Given the description of an element on the screen output the (x, y) to click on. 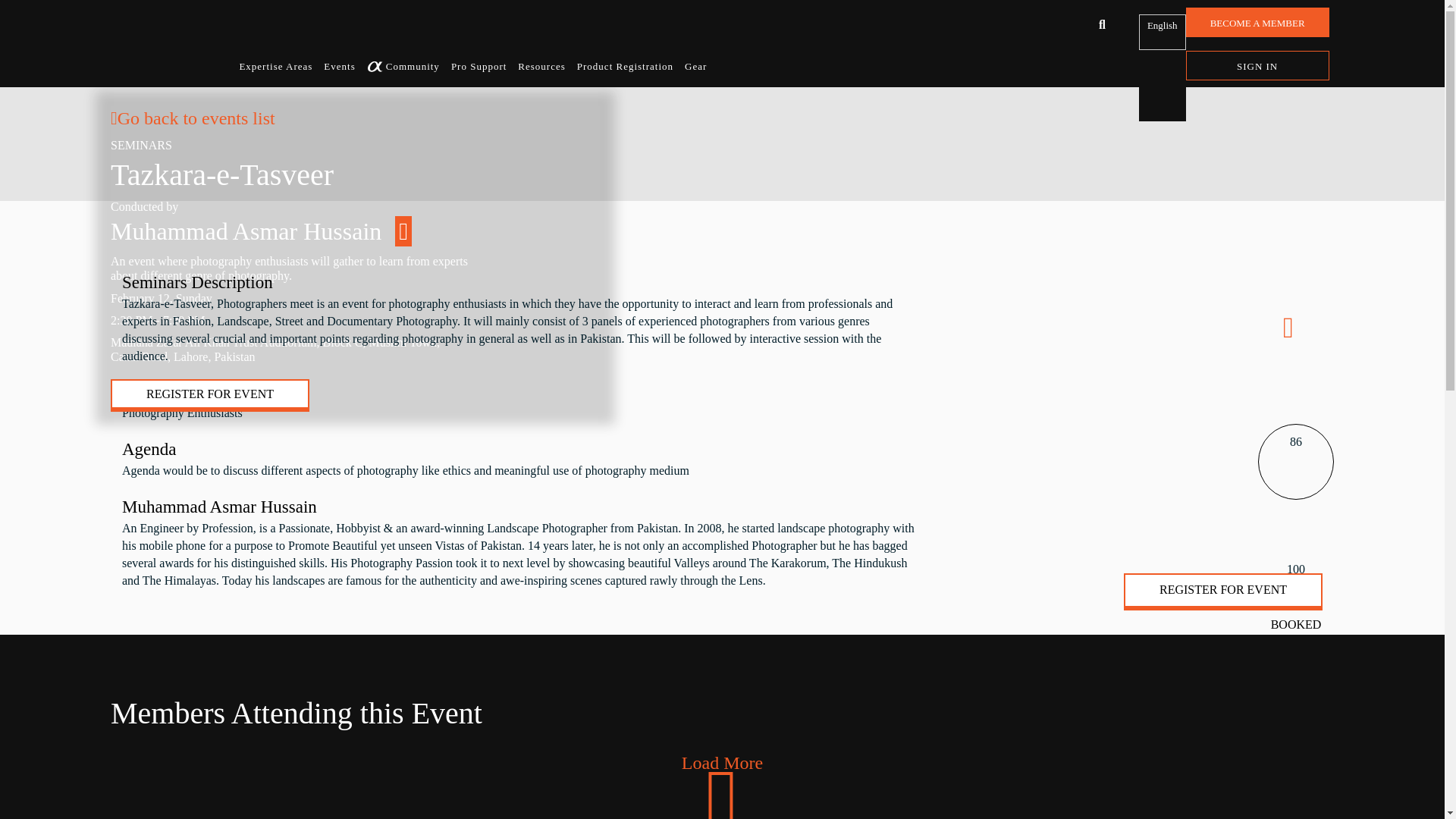
English (1162, 31)
Community (412, 68)
Pro Support (478, 68)
Resources (541, 68)
Expertise Areas (275, 68)
Product Registration (624, 68)
Expertise Areas (275, 68)
BECOME A MEMBER (1257, 21)
